Given the description of an element on the screen output the (x, y) to click on. 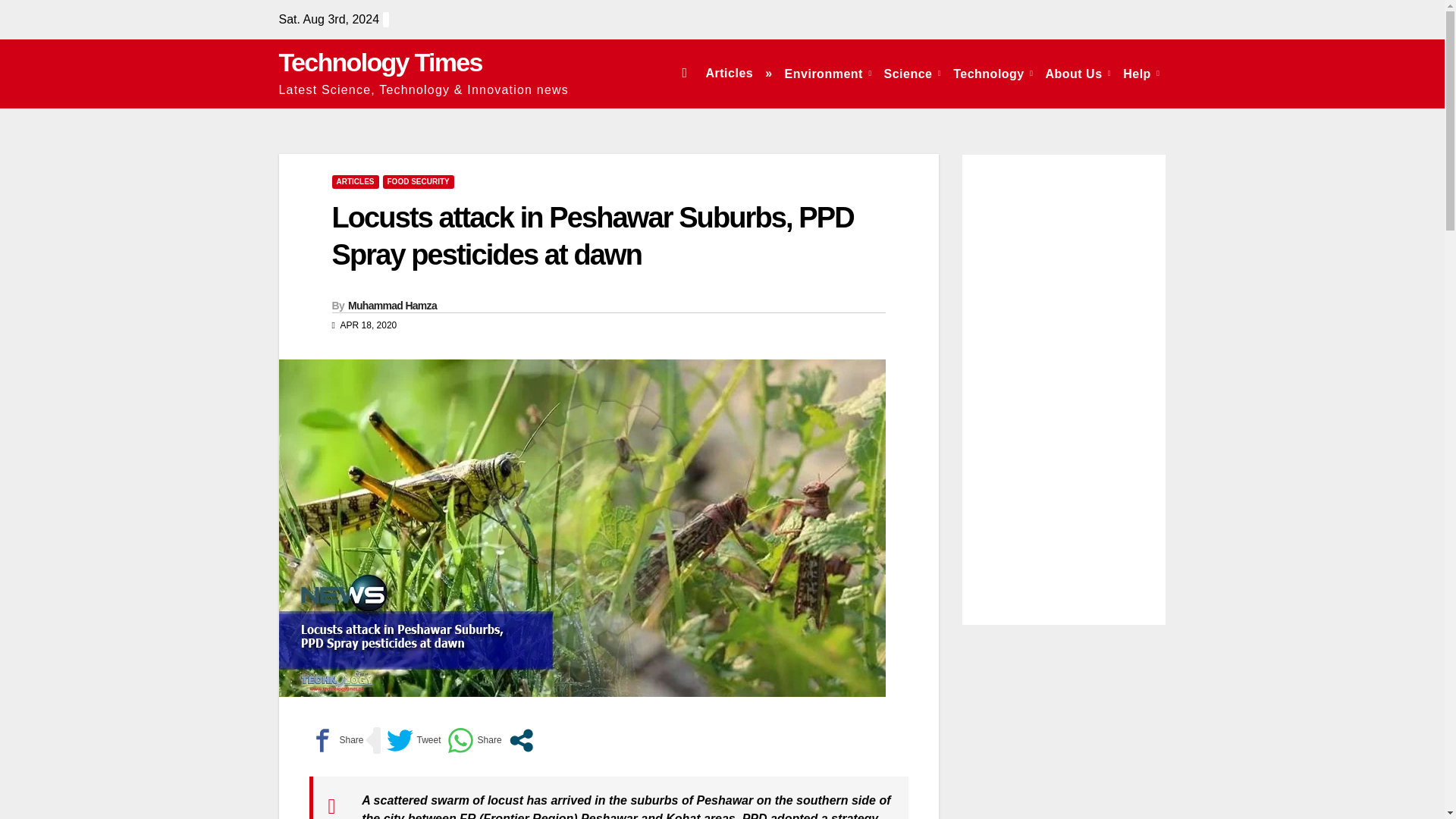
Technology Times (380, 61)
Technology (993, 73)
Environment (827, 73)
Science (912, 73)
About Us (1077, 73)
Technology (993, 73)
Science (912, 73)
Environment (827, 73)
